Given the description of an element on the screen output the (x, y) to click on. 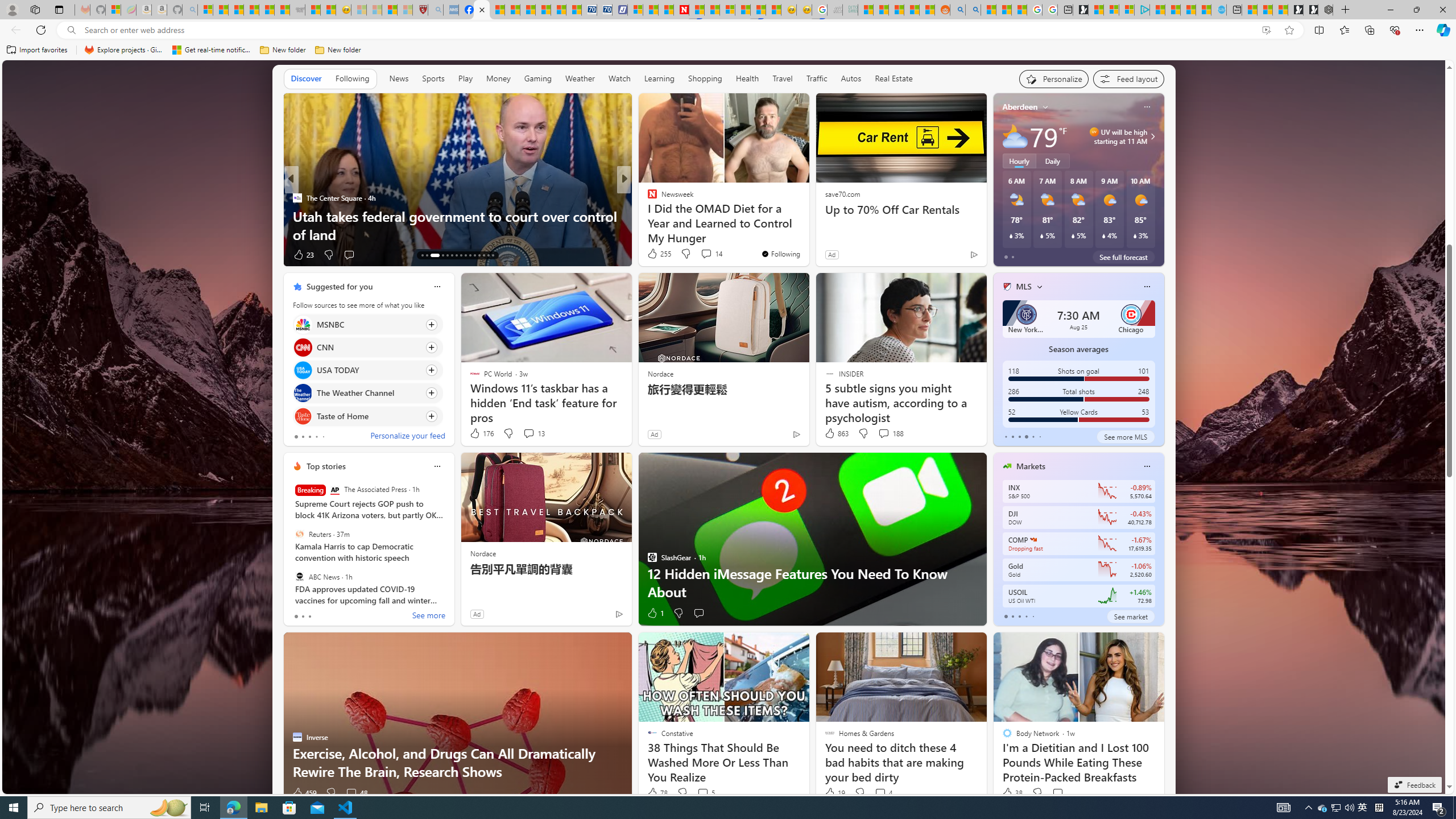
AutomationID: tab-68 (432, 255)
View comments 188 Comment (890, 433)
The Passport Kitchen (296, 215)
tab-3 (1025, 616)
View comments 48 Comment (350, 792)
